Given the description of an element on the screen output the (x, y) to click on. 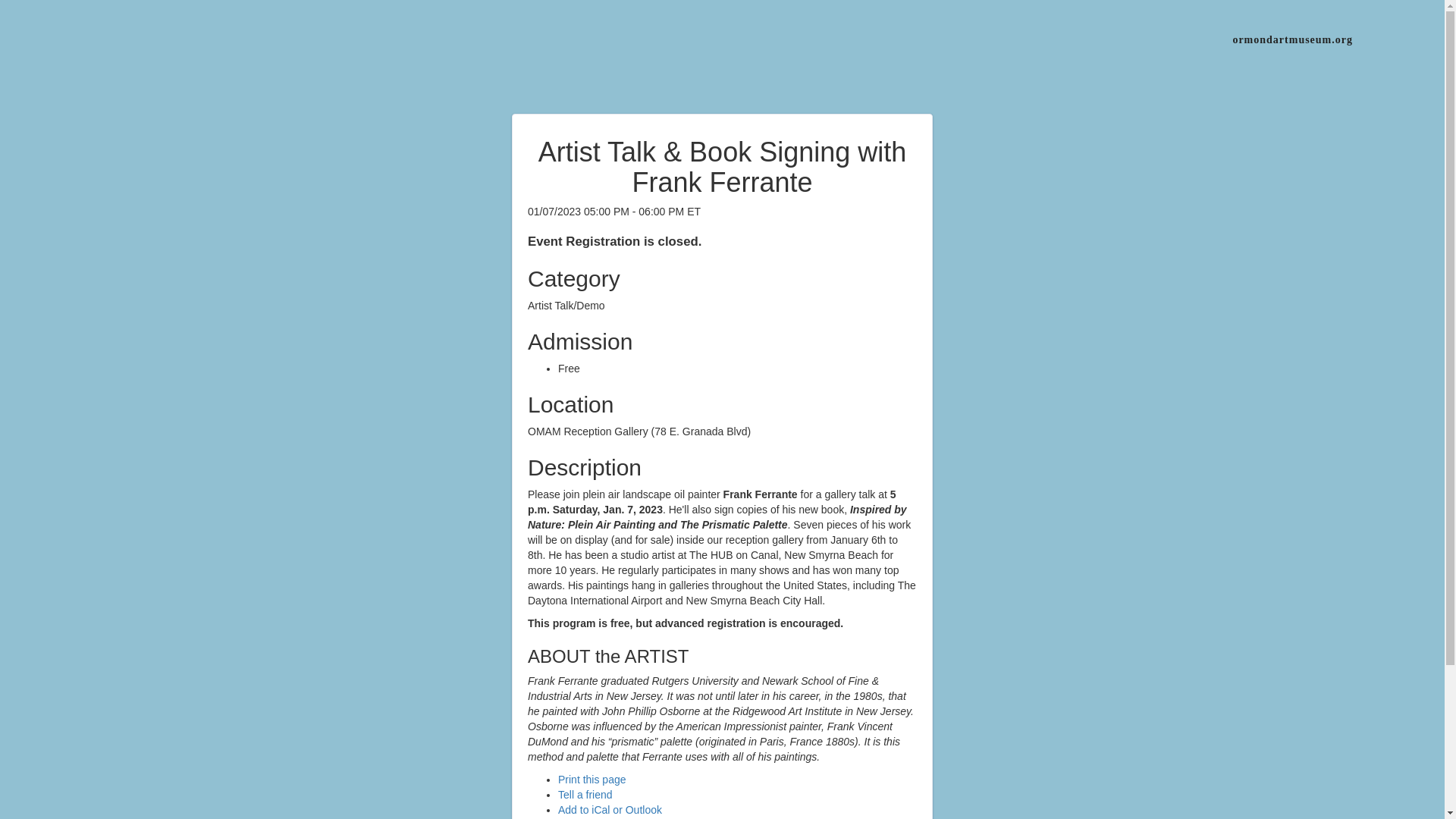
Add to iCal or Outlook (609, 809)
Tell a friend (584, 794)
ormondartmuseum.org (1291, 39)
Print this page (591, 779)
